Given the description of an element on the screen output the (x, y) to click on. 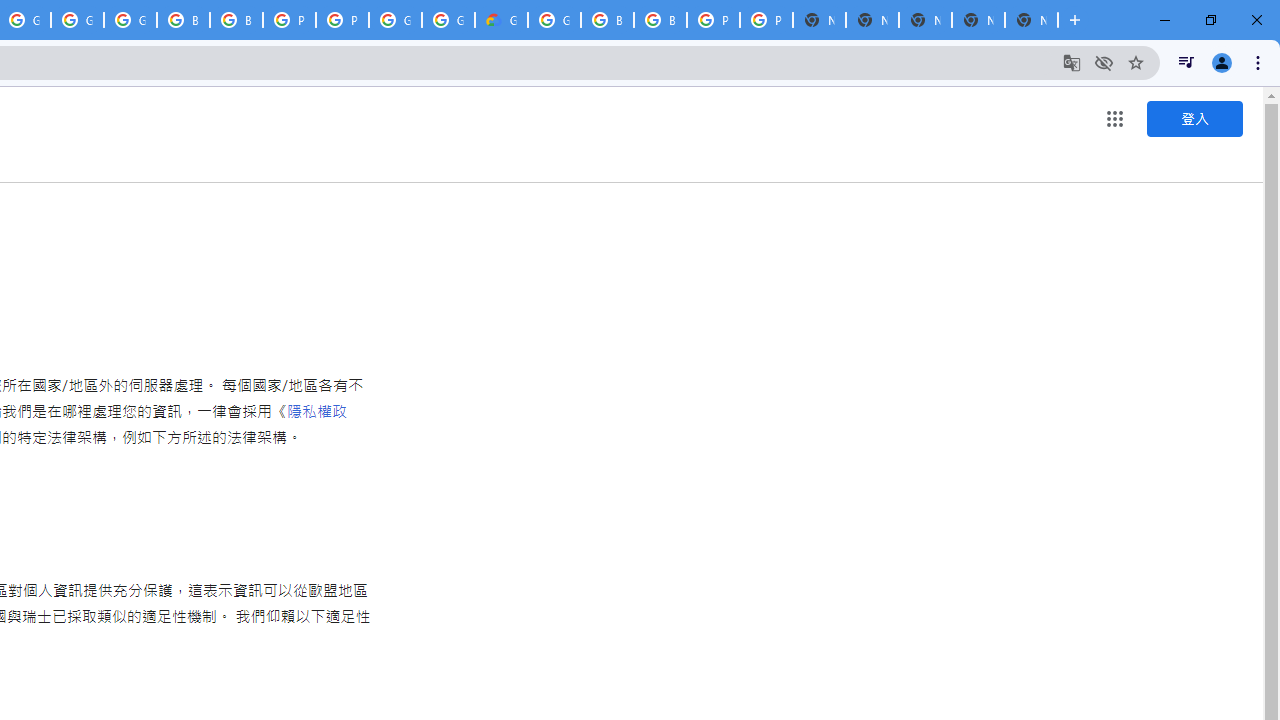
Google Cloud Platform (395, 20)
New Tab (1031, 20)
Google Cloud Platform (448, 20)
